Given the description of an element on the screen output the (x, y) to click on. 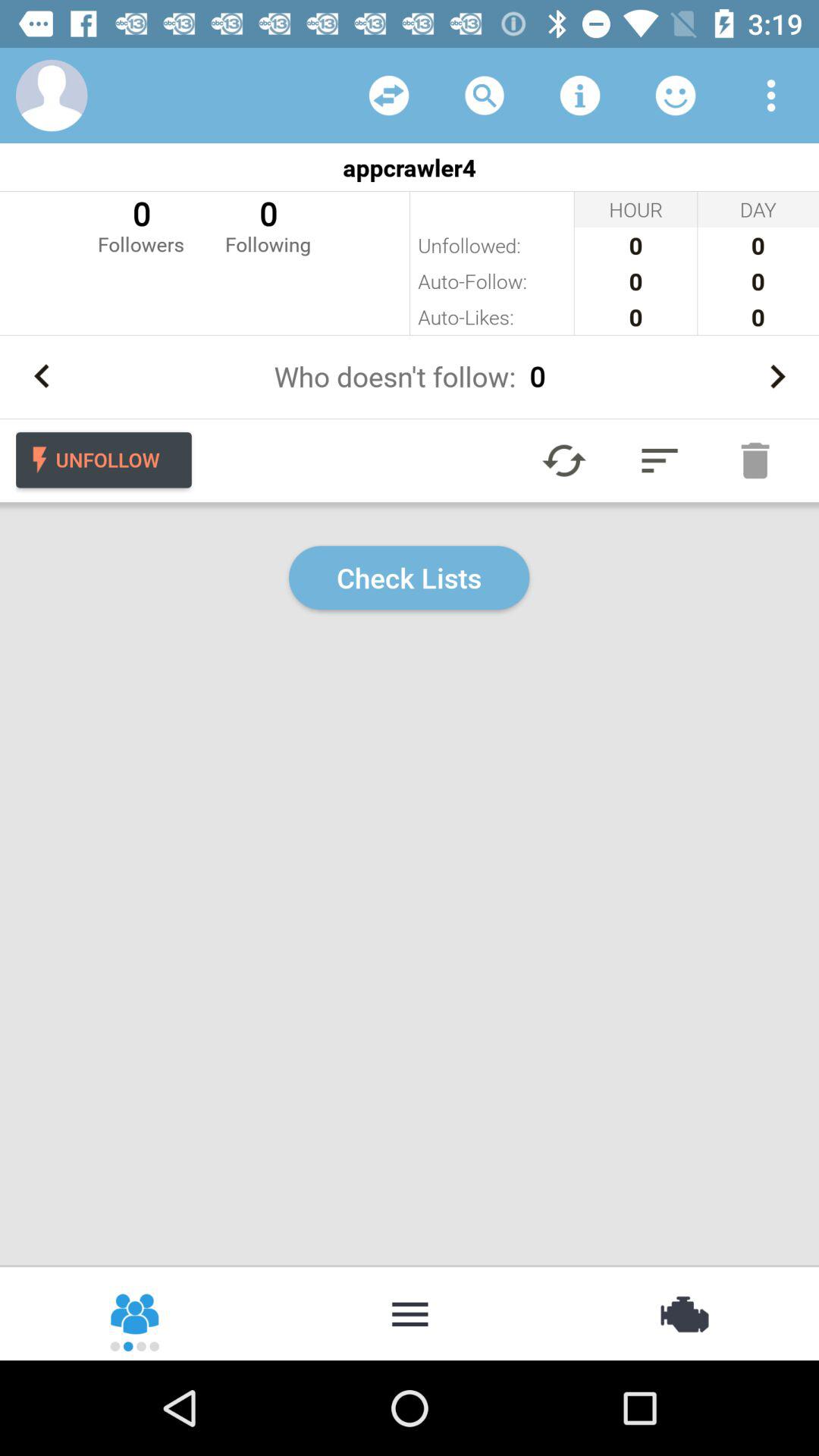
delete (755, 460)
